Given the description of an element on the screen output the (x, y) to click on. 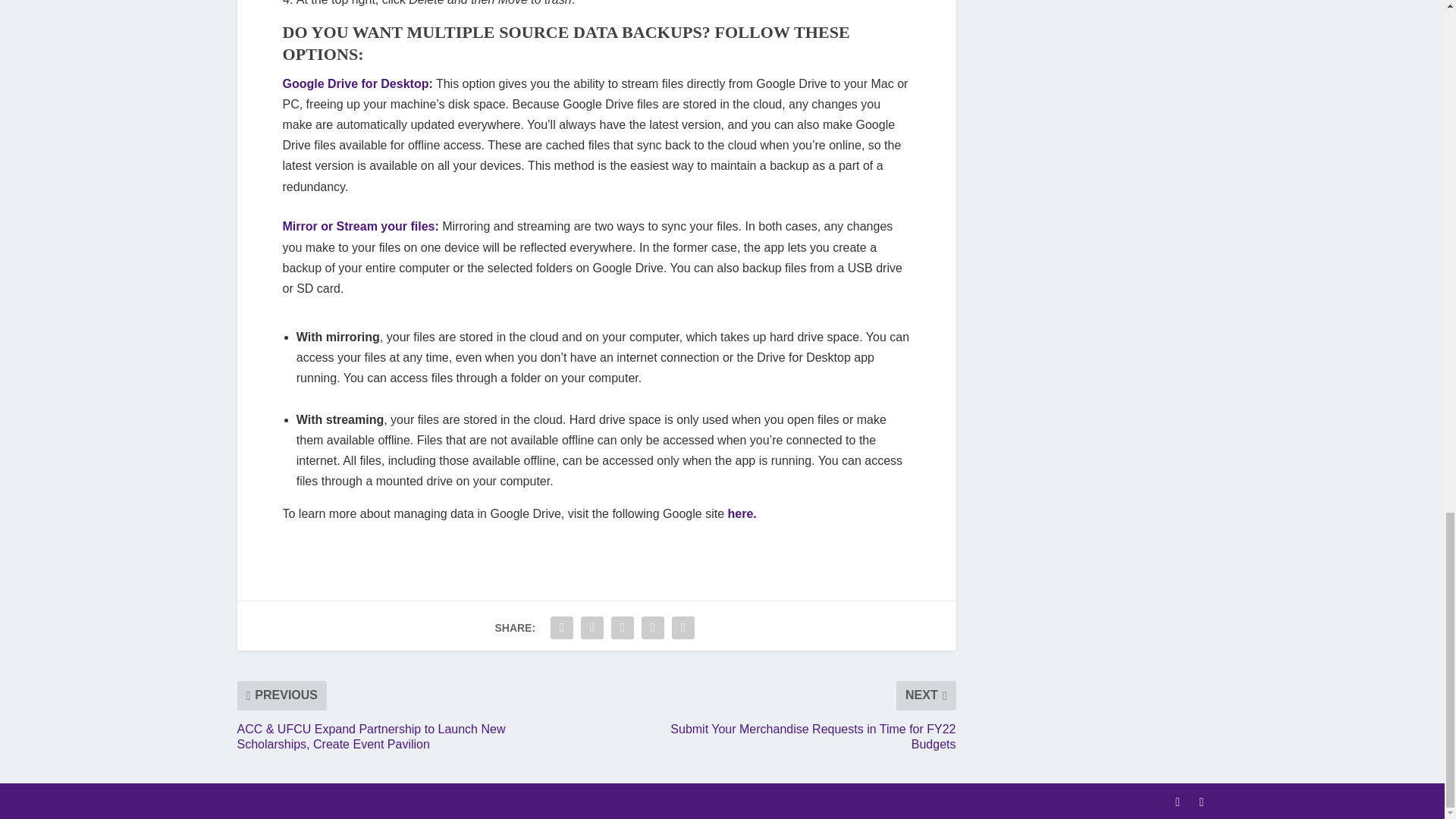
Google Drive for Desktop (355, 83)
Mirror or Stream your files (357, 226)
here. (742, 513)
